Given the description of an element on the screen output the (x, y) to click on. 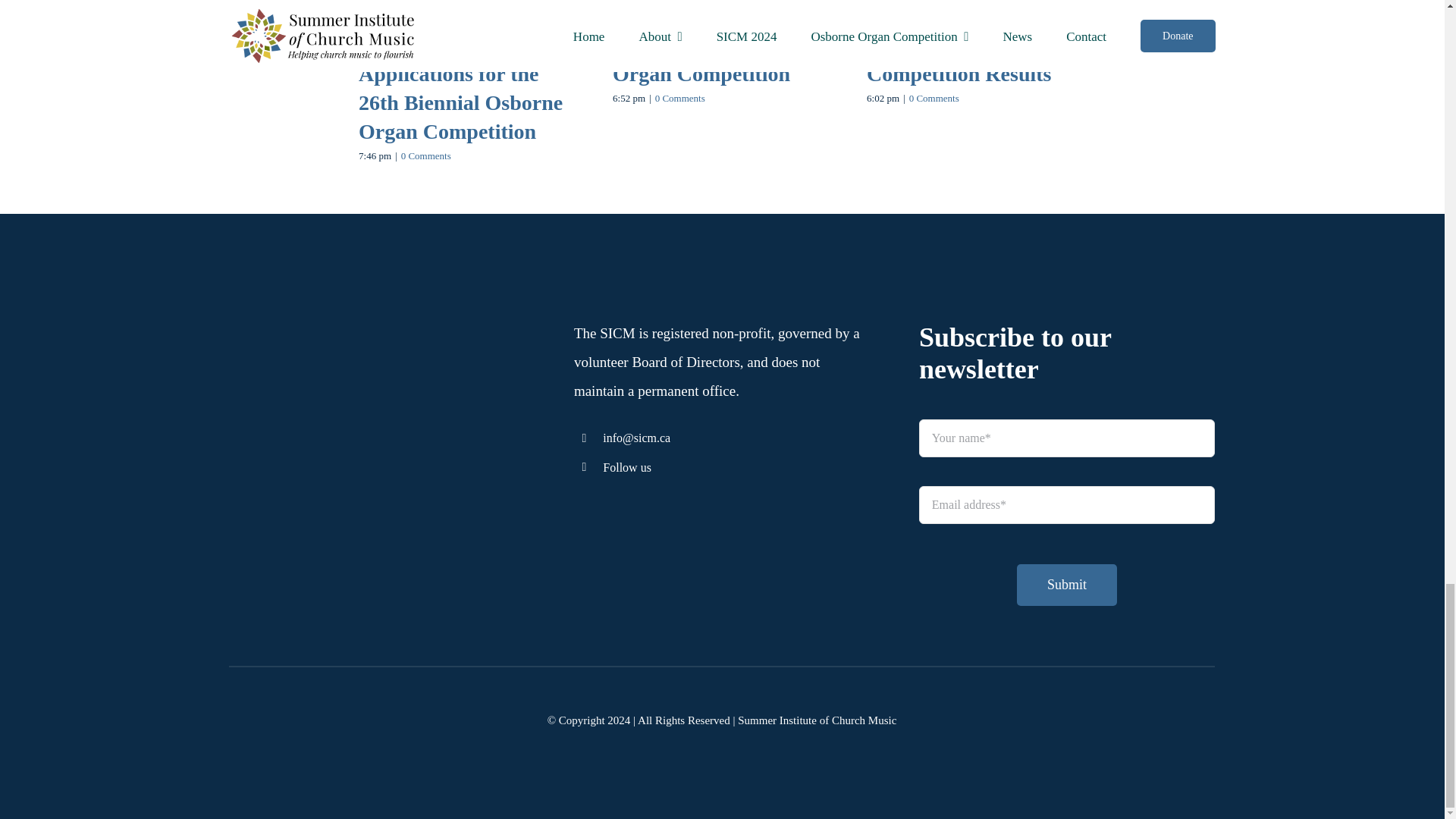
Submit (1066, 511)
24th Biennial Osborne Organ Competition (714, 59)
2012 Organ Competition Results (958, 59)
